Given the description of an element on the screen output the (x, y) to click on. 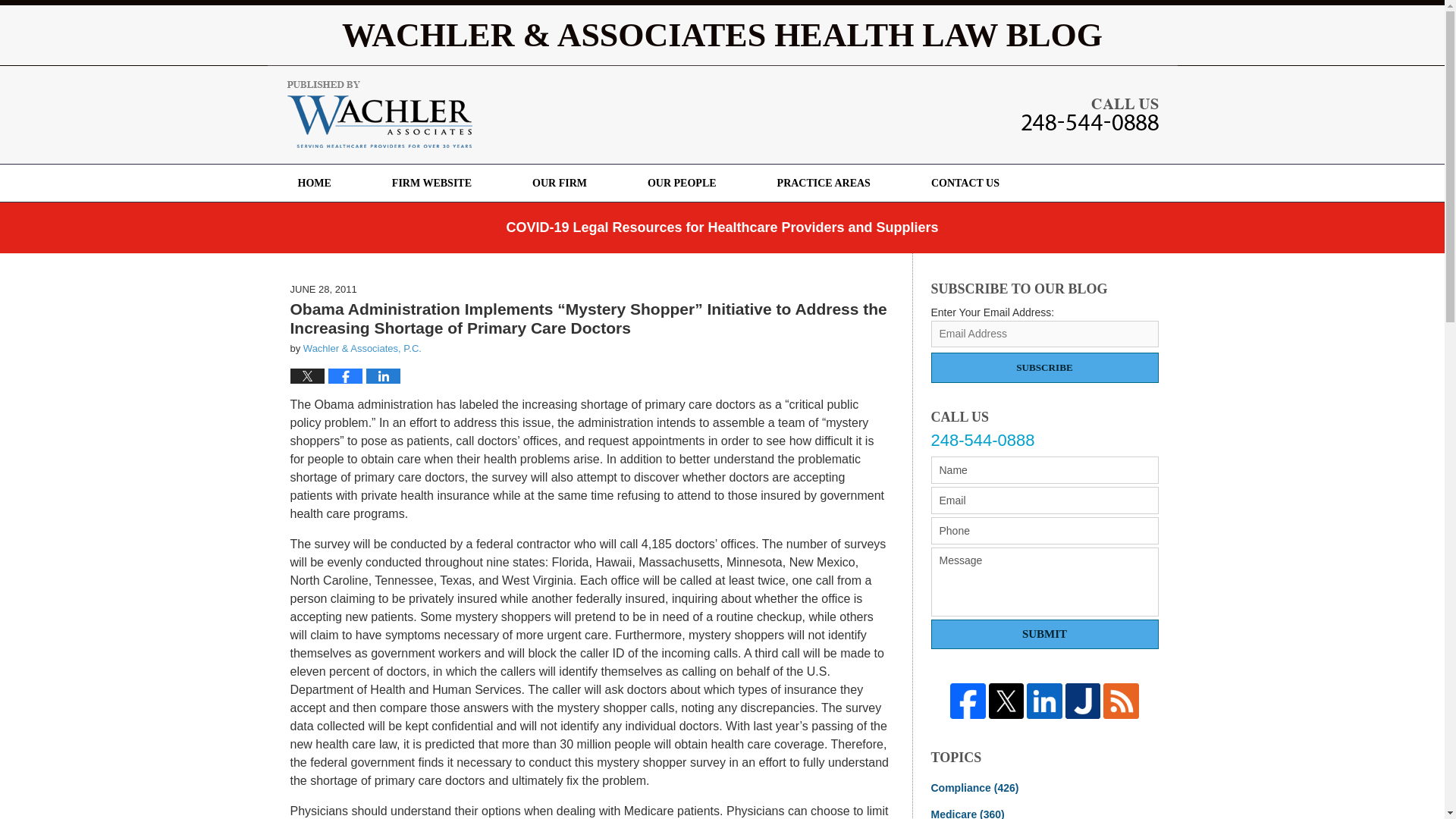
Justia (1083, 701)
PRACTICE AREAS (823, 182)
Facebook (968, 701)
HOME (313, 182)
SUBMIT (1044, 634)
Twitter (1006, 701)
LinkedIn (1044, 701)
OUR FIRM (559, 182)
CONTACT US (965, 182)
Feed (1121, 701)
FIRM WEBSITE (431, 182)
Please enter a valid phone number. (1044, 530)
SUBSCRIBE (1044, 367)
OUR PEOPLE (681, 182)
